Given the description of an element on the screen output the (x, y) to click on. 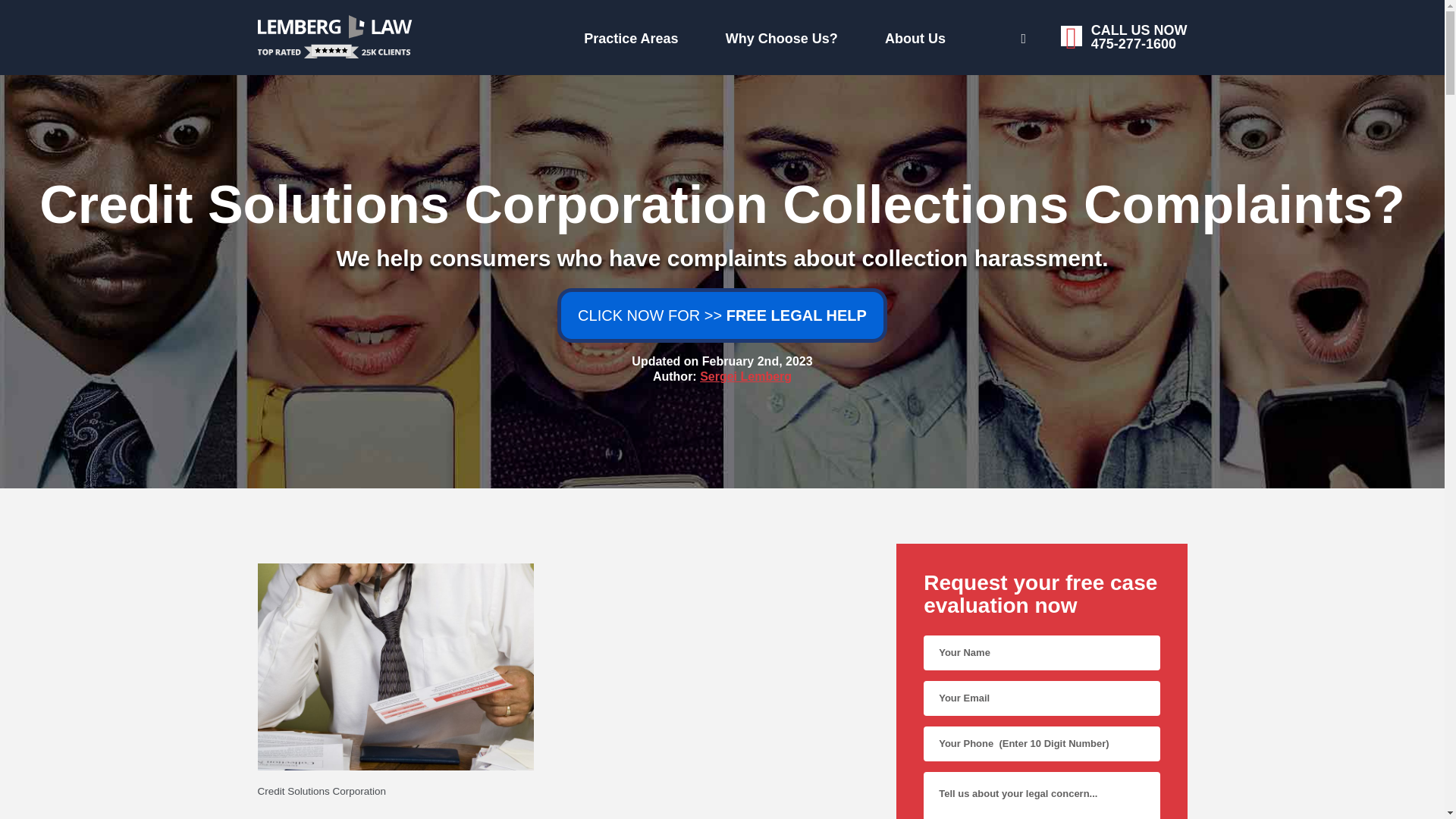
About Us (760, 35)
Credit Solutions Corporation (563, 791)
Sergei Lemberg (968, 35)
Why Choose Us? (746, 376)
Practice Areas (627, 35)
